Given the description of an element on the screen output the (x, y) to click on. 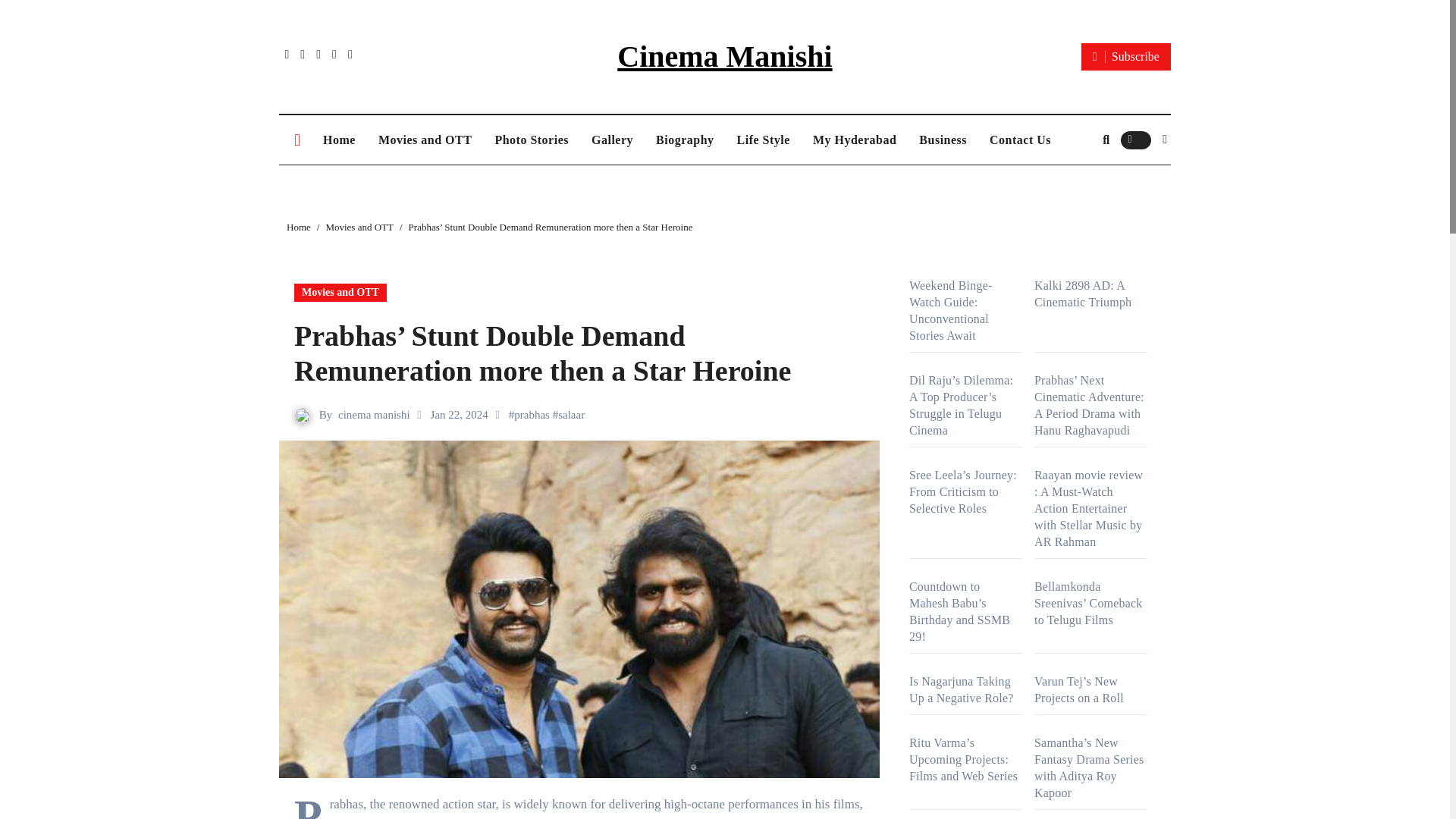
Movies and OTT (340, 292)
Home (298, 226)
Home (338, 139)
Home (338, 139)
Movies and OTT (358, 226)
Business (942, 139)
Biography (685, 139)
Life Style (763, 139)
prabhas (531, 413)
Business (942, 139)
Contact Us (1020, 139)
salaar (571, 413)
Biography (685, 139)
Photo Stories (531, 139)
Gallery (612, 139)
